Given the description of an element on the screen output the (x, y) to click on. 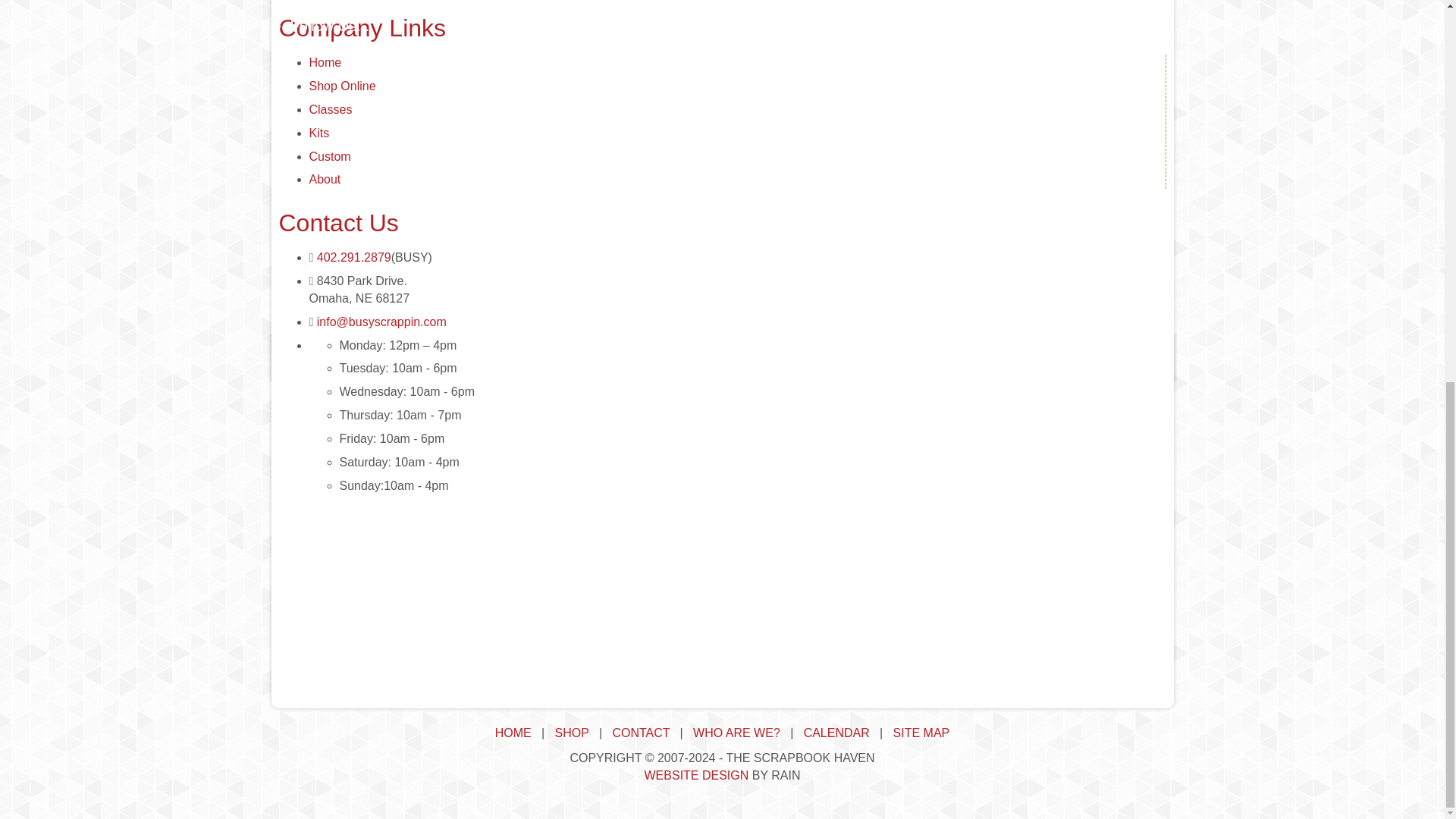
Kits (319, 132)
Shop Online (341, 85)
HOME (513, 732)
WHO ARE WE? (736, 732)
CONTACT (640, 732)
SHOP (571, 732)
402.291.2879 (354, 256)
Classes (330, 109)
Custom (329, 155)
Home (325, 62)
About (324, 178)
SITE MAP (921, 732)
CALENDAR (836, 732)
